Given the description of an element on the screen output the (x, y) to click on. 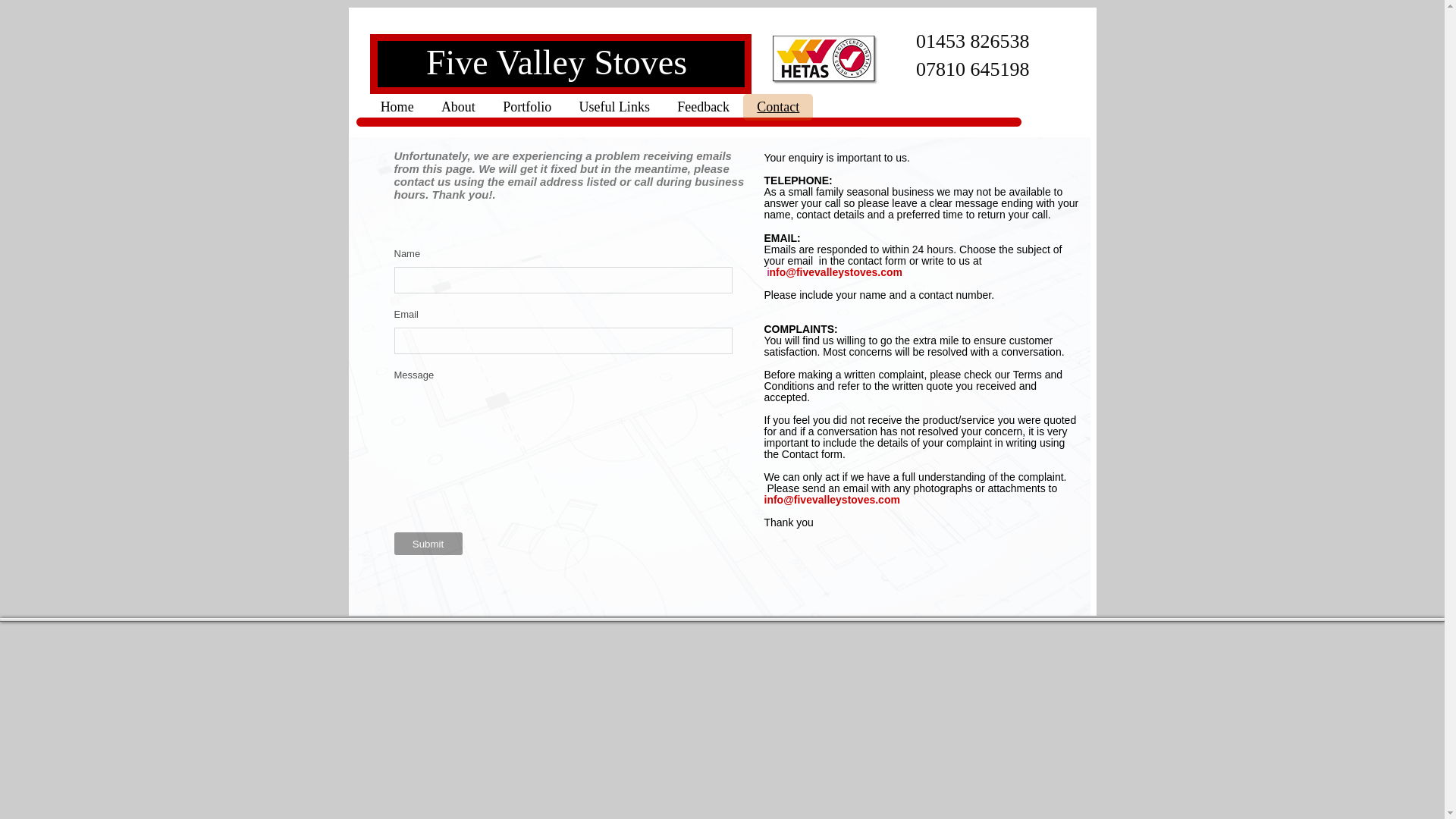
Useful Links (613, 107)
Submit (428, 543)
Contact (777, 107)
Portfolio (526, 107)
Feedback (702, 107)
About (458, 107)
Home (397, 107)
